Given the description of an element on the screen output the (x, y) to click on. 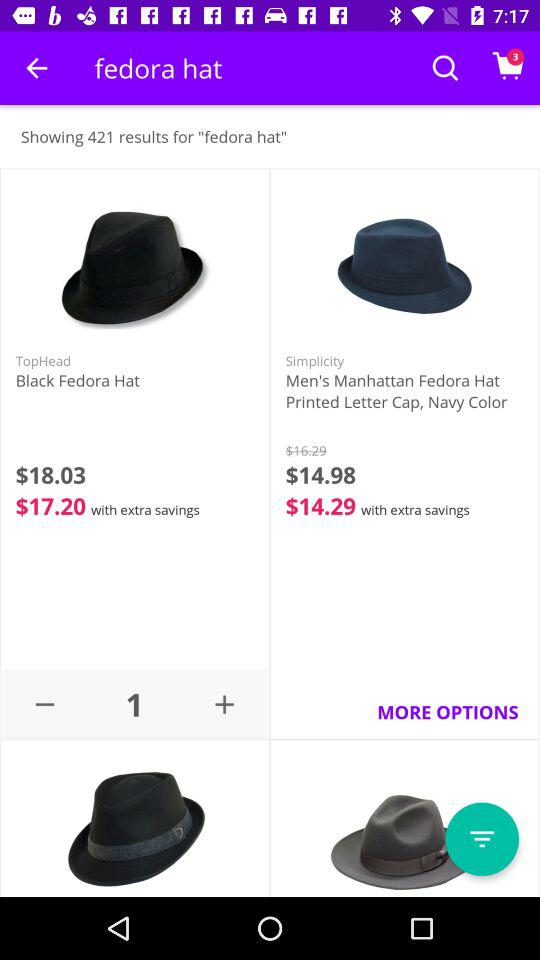
page menu (482, 839)
